Given the description of an element on the screen output the (x, y) to click on. 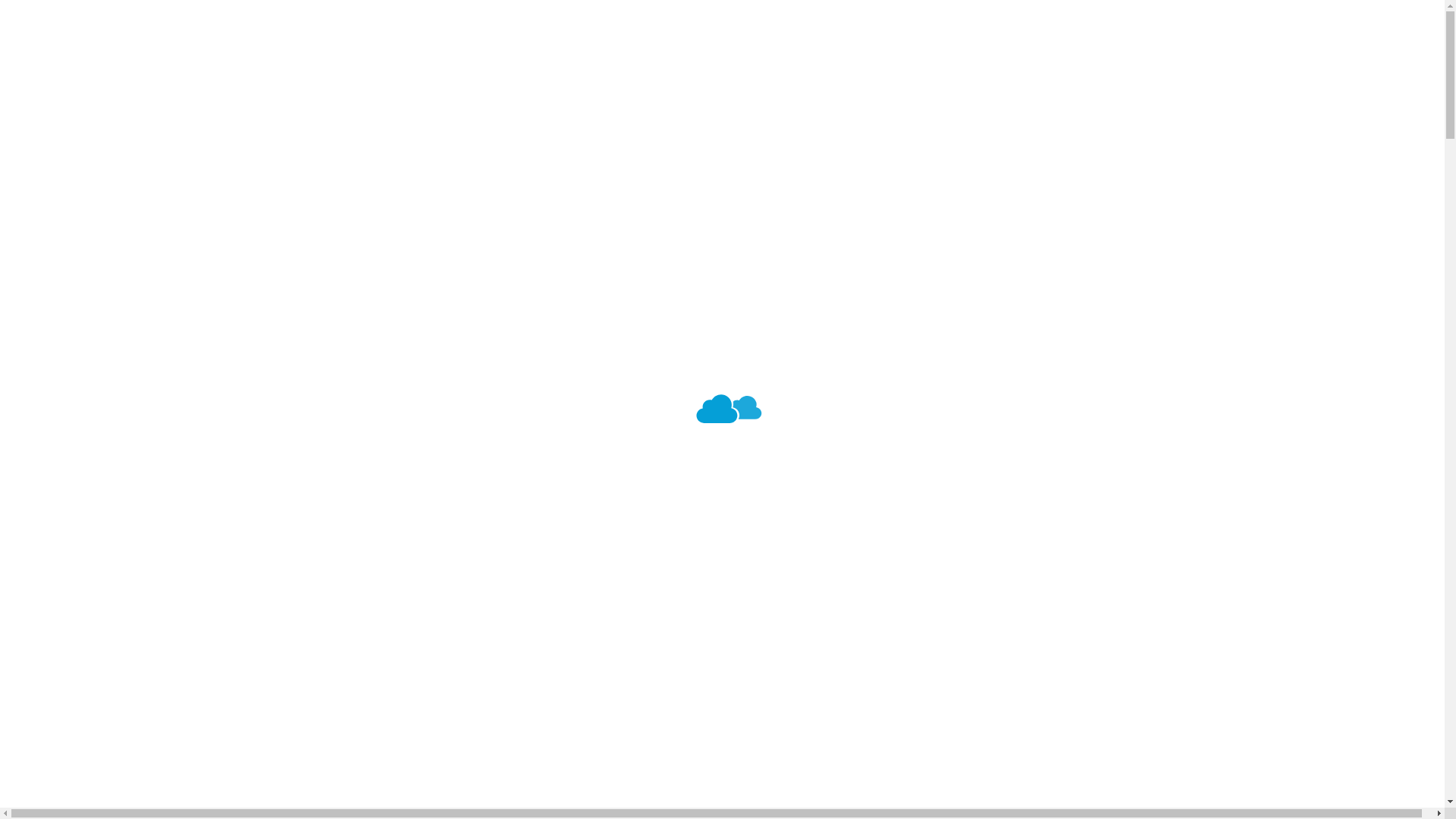
Learning Paths Element type: text (156, 136)

             Element type: hover (136, 67)
Marketing More With Less Element type: text (300, 359)
Registrieren Element type: text (587, 413)
Technische Trainings Element type: text (172, 220)
Trainings Element type: text (74, 165)
Alle Trainings Element type: text (151, 164)
Kalender Element type: text (140, 108)

             Element type: hover (78, 71)
Programme und Ressourcen Element type: text (130, 318)
Build your Security practice Element type: text (305, 304)
Business Offer Development Element type: text (308, 387)
Einloggen Element type: text (587, 436)
Sales Training Element type: text (153, 192)
Microsoft AI Cloud Partner Program Element type: text (329, 276)
Microsoft Customer Journey-In-a-Box Playbooks Element type: text (365, 332)
